Given the description of an element on the screen output the (x, y) to click on. 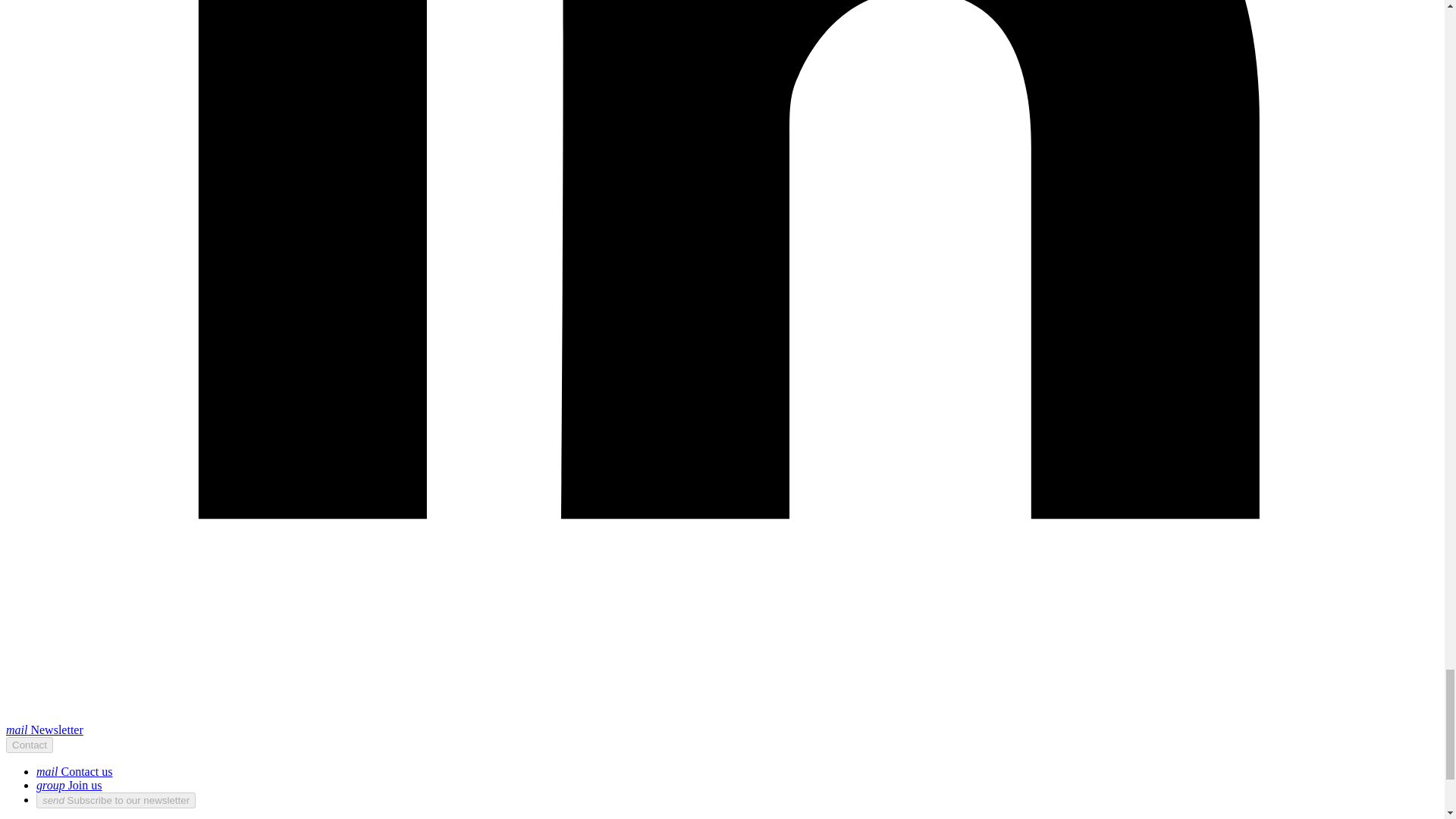
group Join us (68, 784)
mail Contact us (74, 771)
send Subscribe to our newsletter (115, 800)
Contact (28, 744)
mail Newsletter (43, 729)
